Given the description of an element on the screen output the (x, y) to click on. 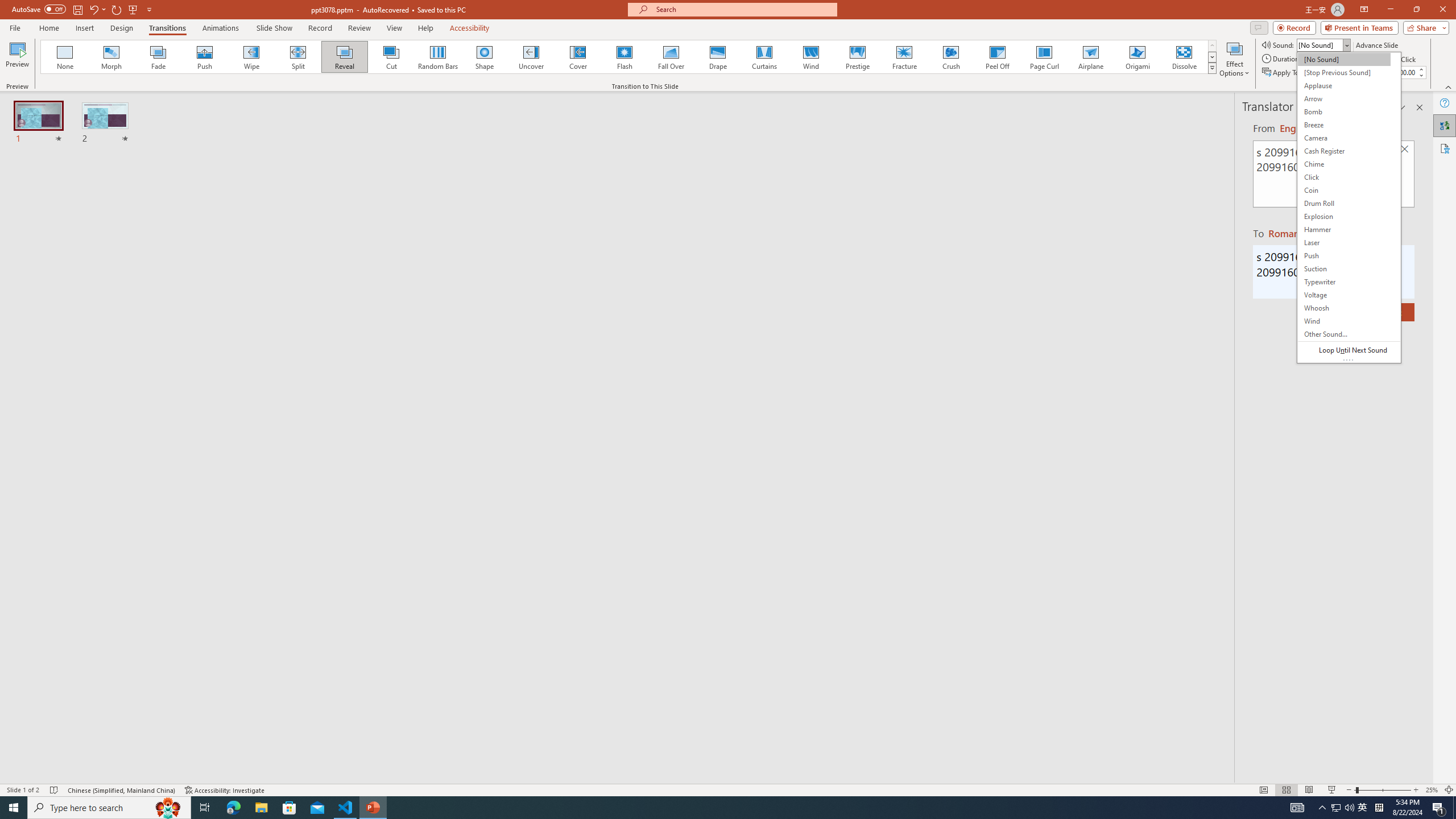
AutomationID: AnimationTransitionGallery (628, 56)
Prestige (857, 56)
Shape (484, 56)
